Given the description of an element on the screen output the (x, y) to click on. 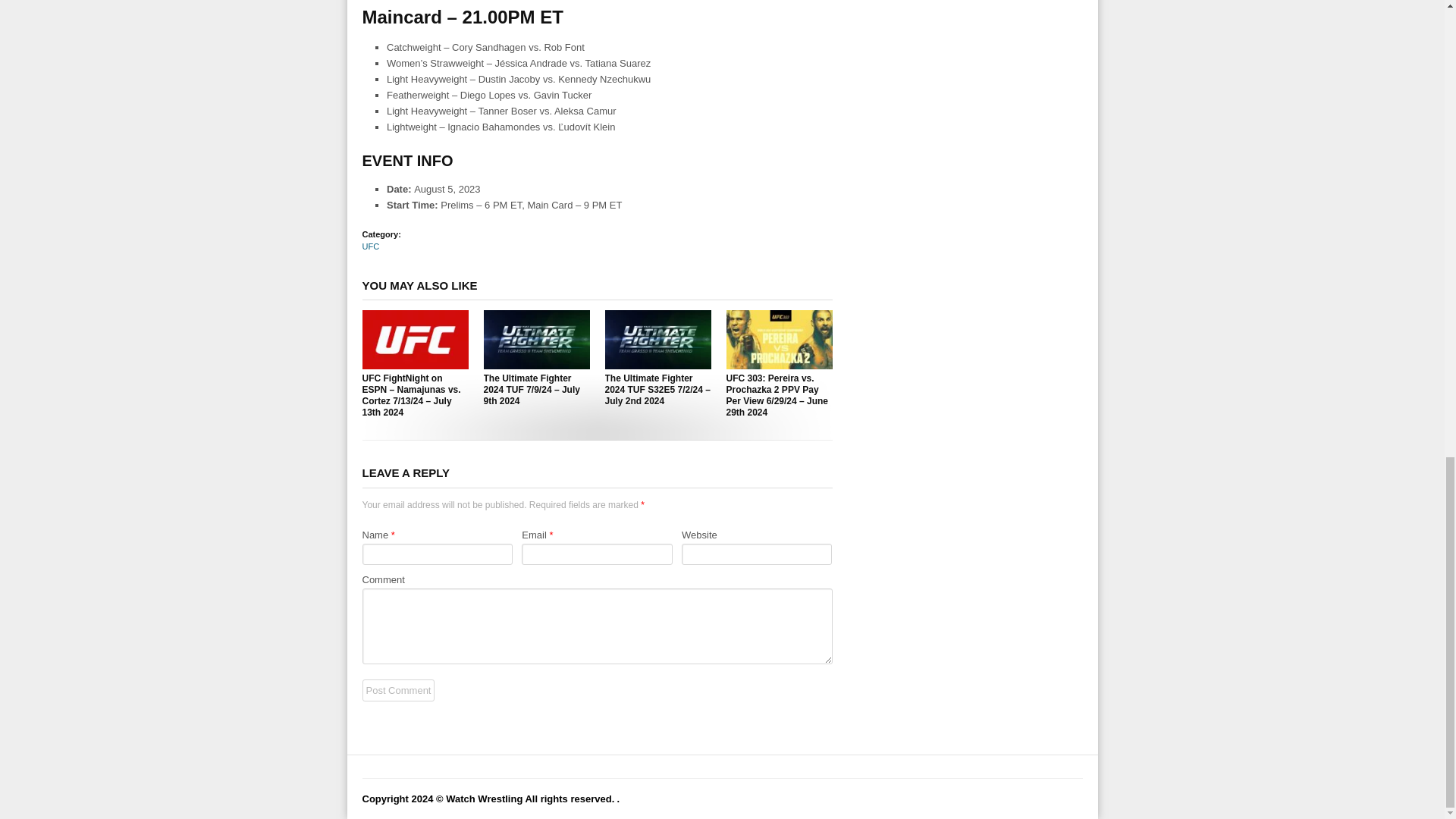
Post Comment (398, 690)
UFC (371, 245)
